Given the description of an element on the screen output the (x, y) to click on. 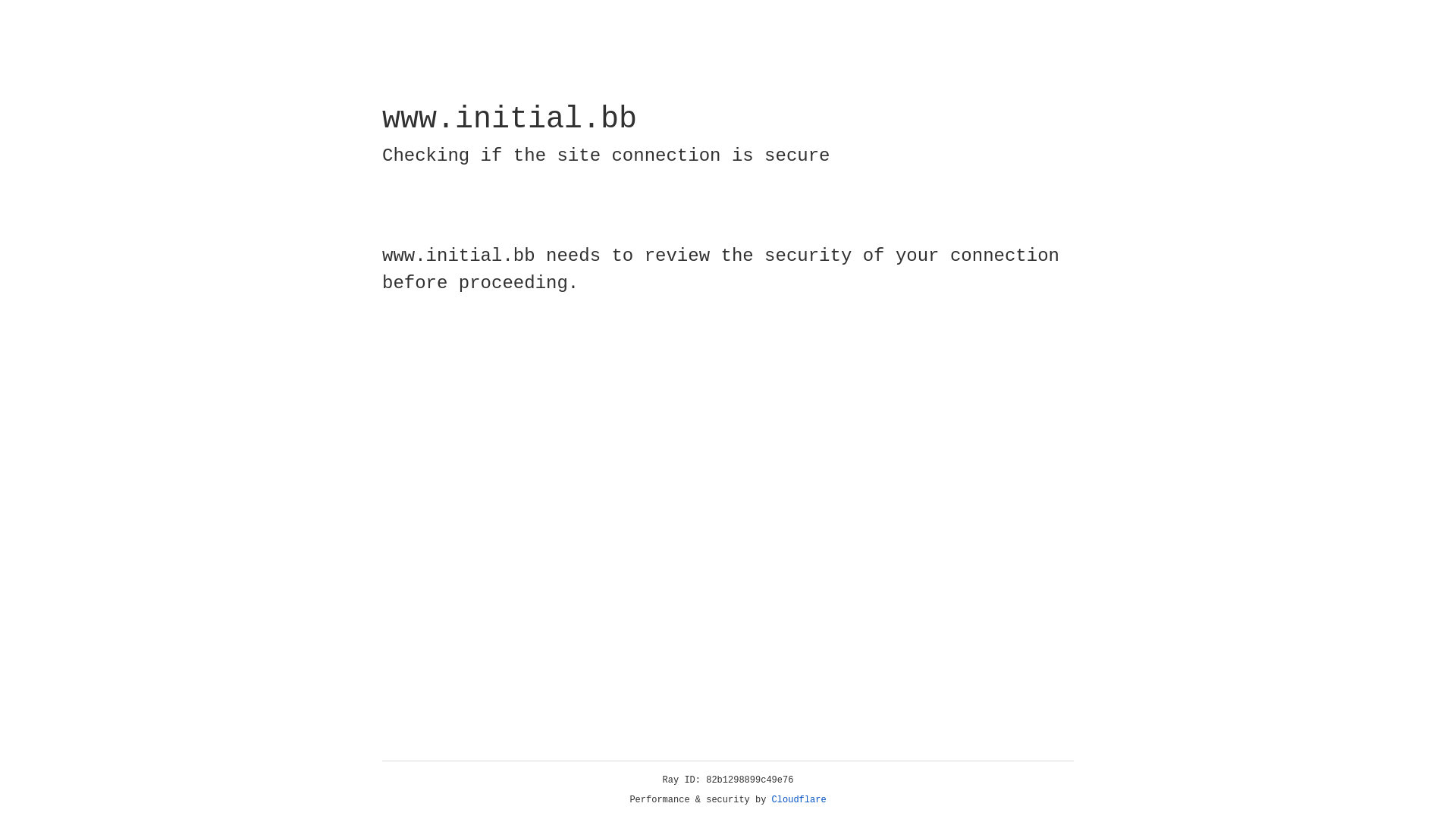
Cloudflare Element type: text (798, 799)
